Given the description of an element on the screen output the (x, y) to click on. 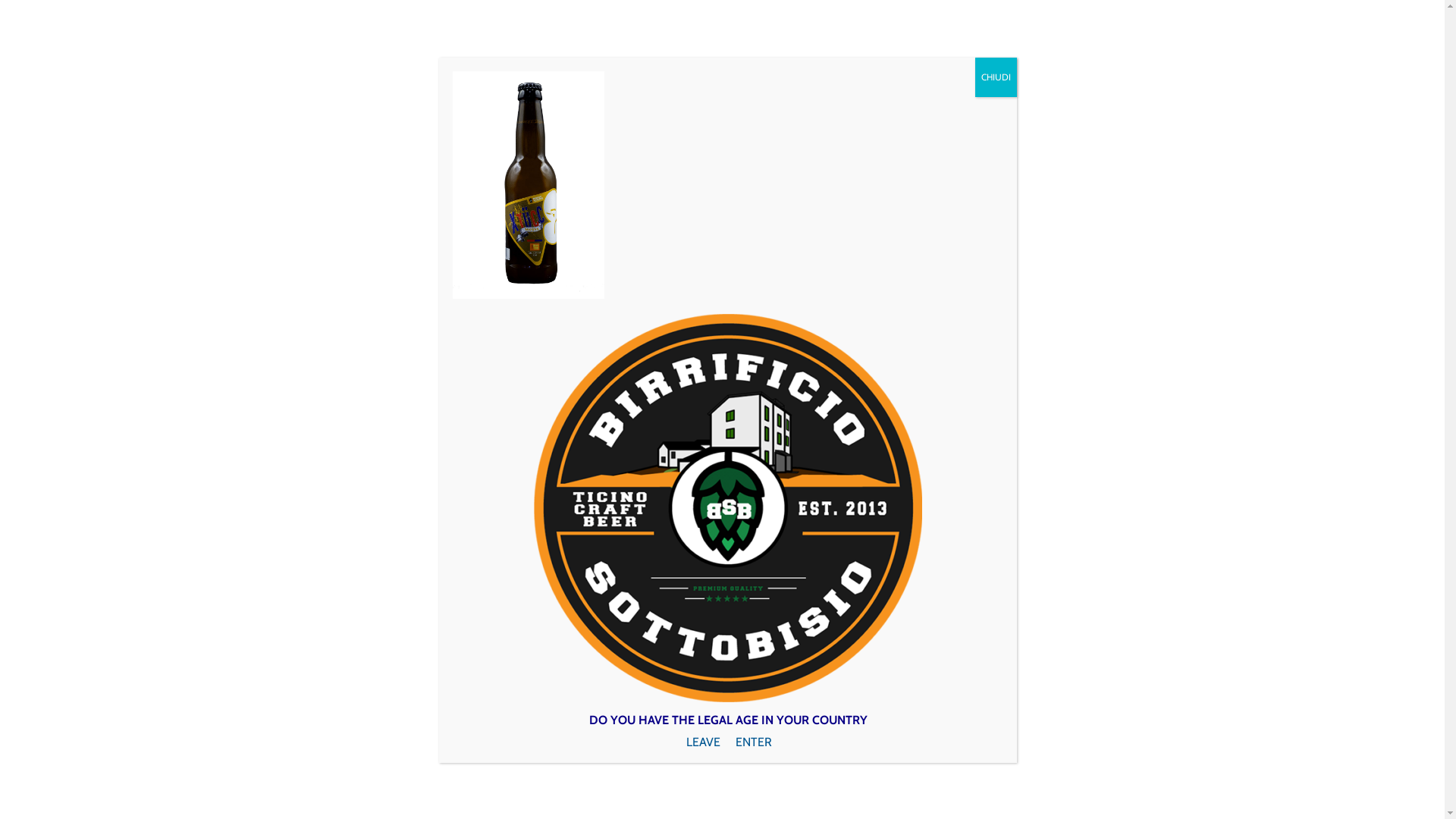
HOME Element type: text (786, 94)
Accedi Element type: text (904, 20)
Accetto Element type: text (1041, 797)
Carrello (0) Element type: text (1019, 21)
CHIUDI Element type: text (995, 77)
NEWS Element type: text (903, 94)
CONTATTACI Element type: text (1039, 94)
sottobisio Element type: text (401, 240)
CHI SIAMO Element type: text (849, 94)
LEAVE Element type: text (590, 741)
ENTER Element type: text (865, 741)
MARKET PLACE Element type: text (963, 94)
